Given the description of an element on the screen output the (x, y) to click on. 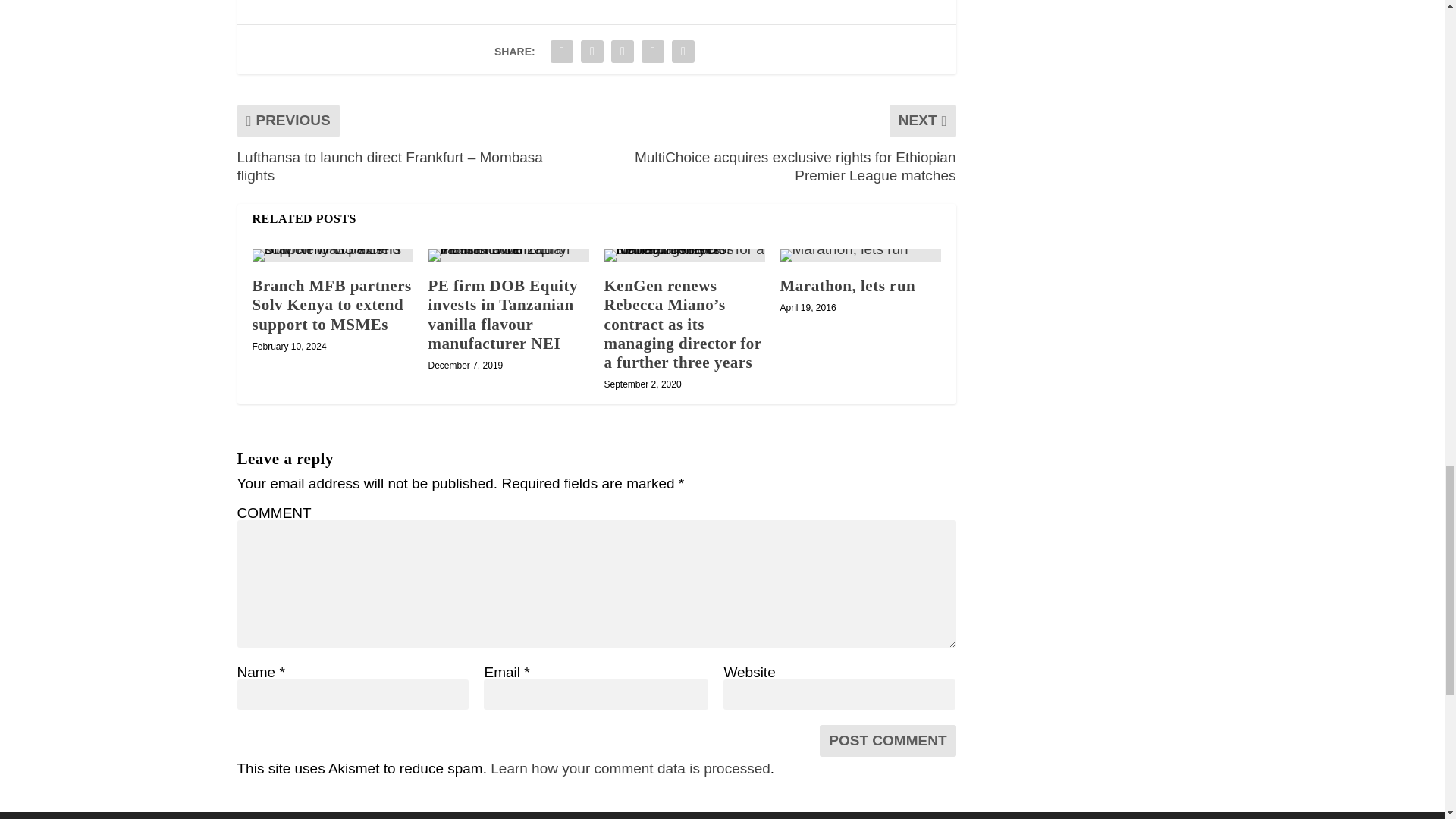
Share "Rubis Energy officially launches in Kenya" via Email (652, 51)
Branch MFB partners Solv Kenya to extend support to MSMEs (331, 255)
Share "Rubis Energy officially launches in Kenya" via Print (683, 51)
Post Comment (887, 740)
Marathon, lets run (859, 255)
